Given the description of an element on the screen output the (x, y) to click on. 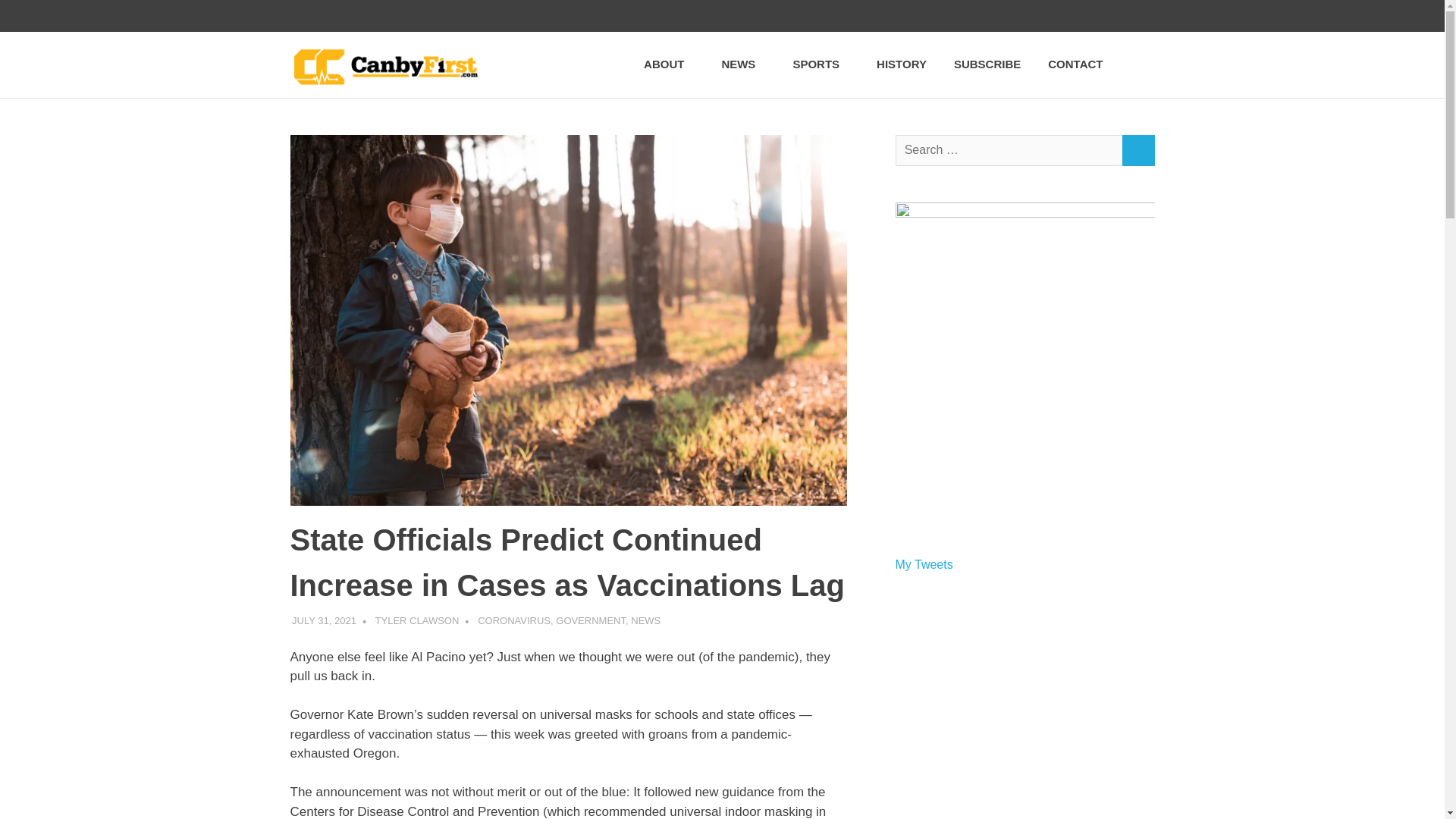
Twitter (1010, 15)
10:13 am (324, 620)
YouTube (1106, 15)
Instagram (1042, 15)
ABOUT (668, 64)
Search for: (1008, 150)
SPORTS (820, 64)
Spotify (1138, 15)
NEWS (742, 64)
Facebook (978, 15)
View all posts by Tyler Clawson (417, 620)
Tumblr (1074, 15)
